Given the description of an element on the screen output the (x, y) to click on. 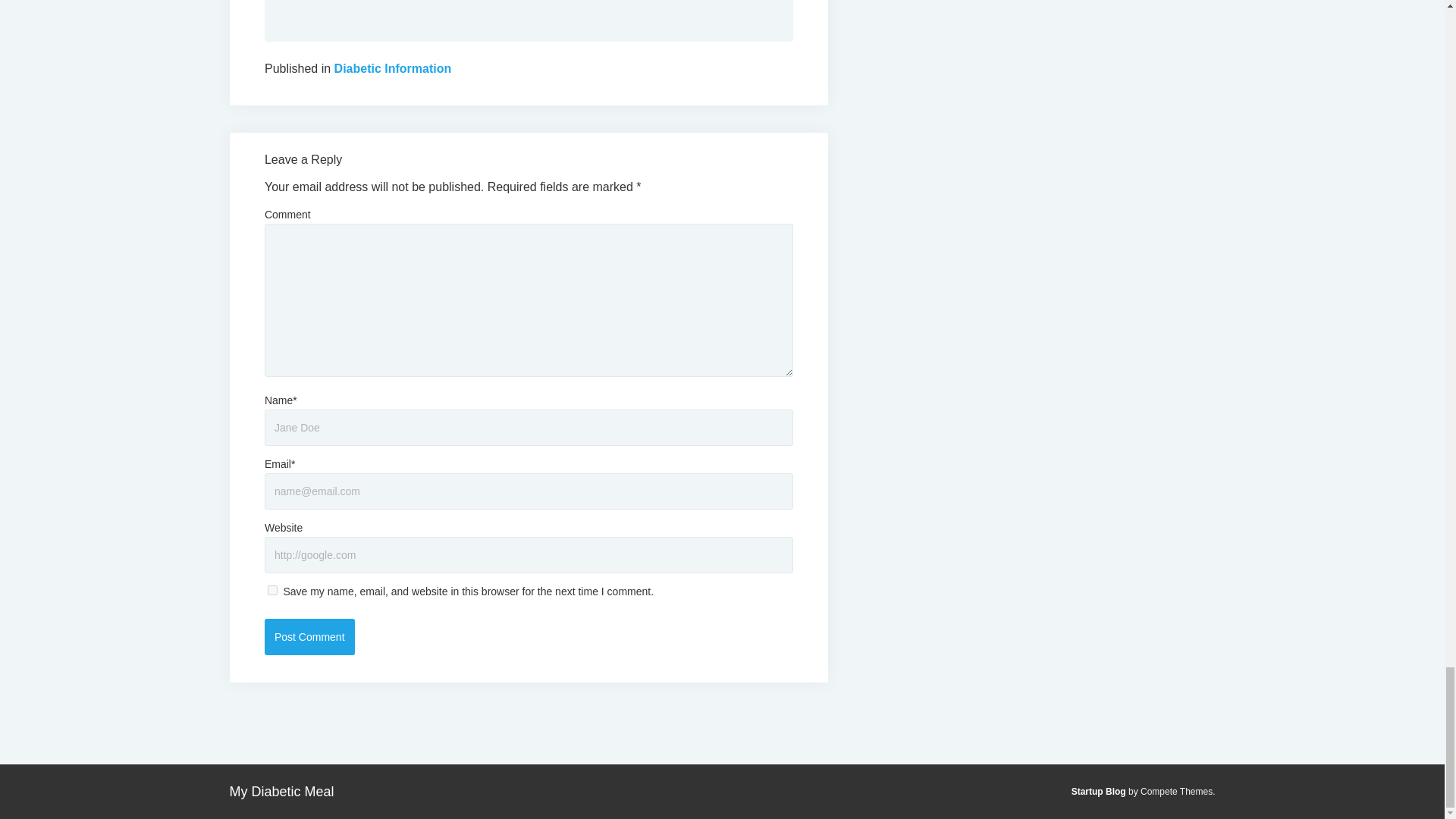
Startup Blog (1098, 791)
My Diabetic Meal (280, 791)
admin (528, 1)
yes (272, 590)
Post Comment (309, 637)
View all posts in Diabetic Information (392, 68)
Diabetic Information (392, 68)
Post Comment (309, 637)
